Given the description of an element on the screen output the (x, y) to click on. 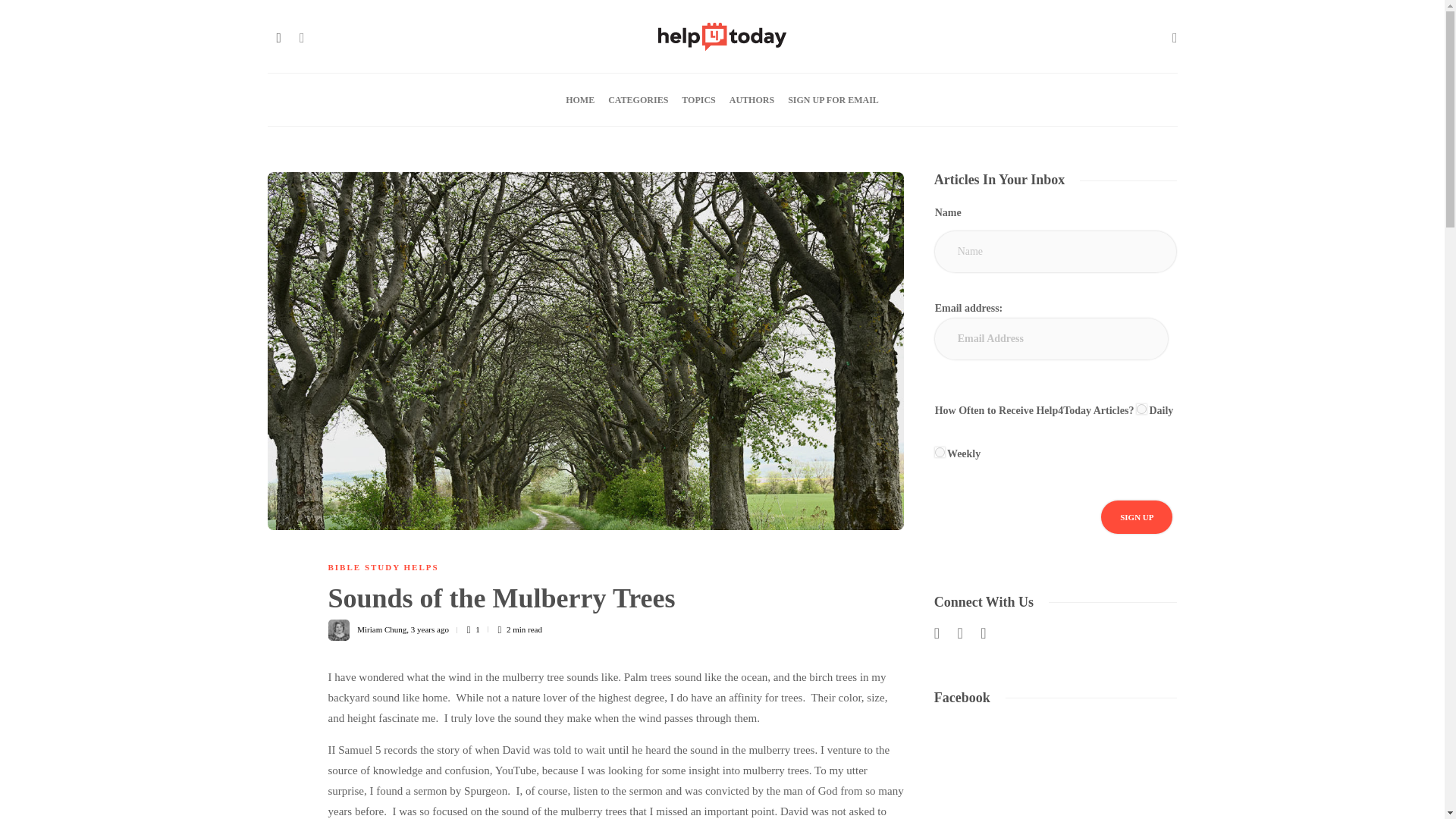
6b9d5103f3 (939, 452)
c6cf8e2dc3 (1142, 409)
Sounds of the Mulberry Trees (603, 601)
SIGN UP FOR EMAIL (833, 99)
CATEGORIES (638, 99)
BIBLE STUDY HELPS (382, 566)
Sign Up (1136, 516)
